Given the description of an element on the screen output the (x, y) to click on. 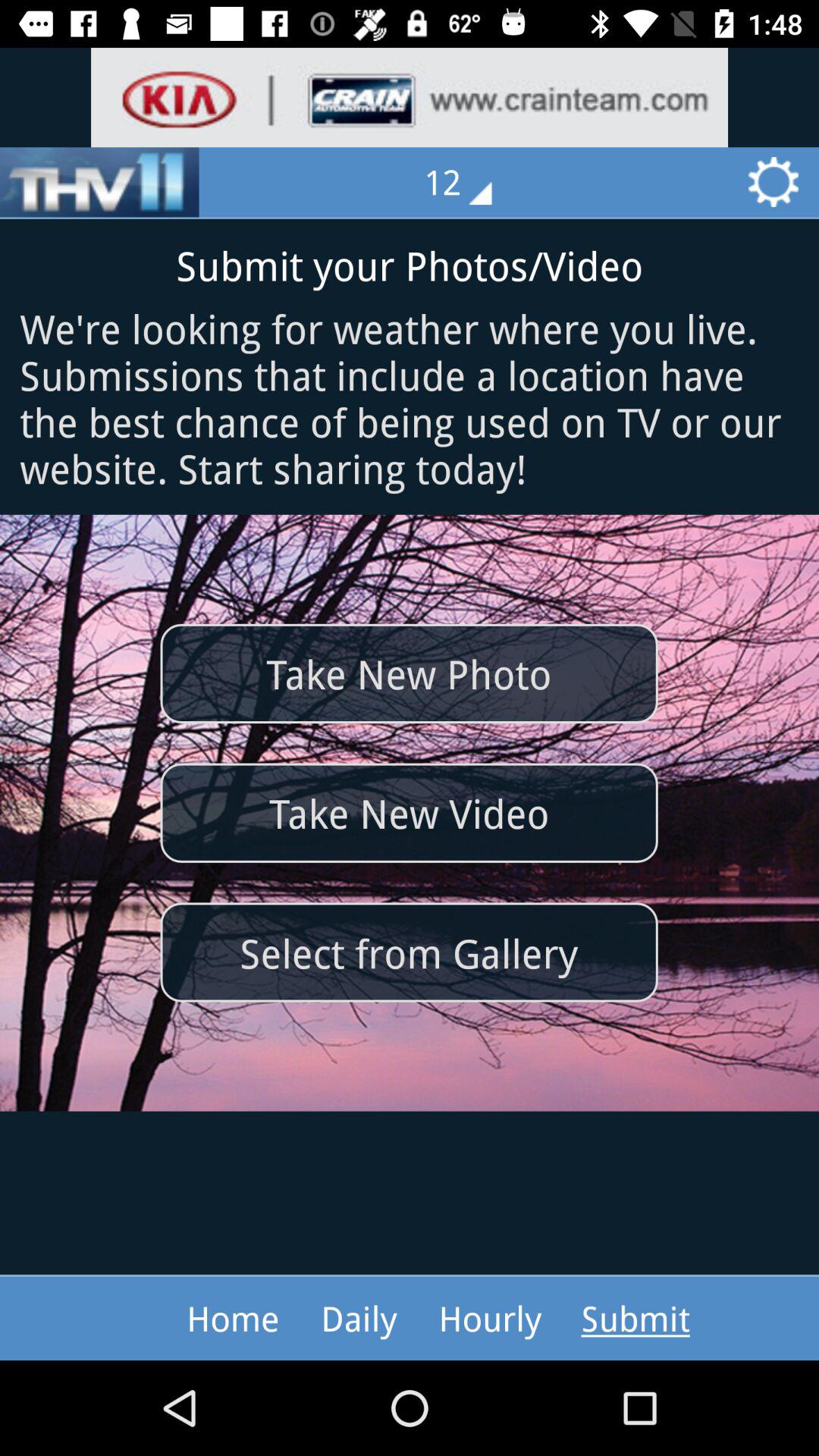
commercial (409, 97)
